Given the description of an element on the screen output the (x, y) to click on. 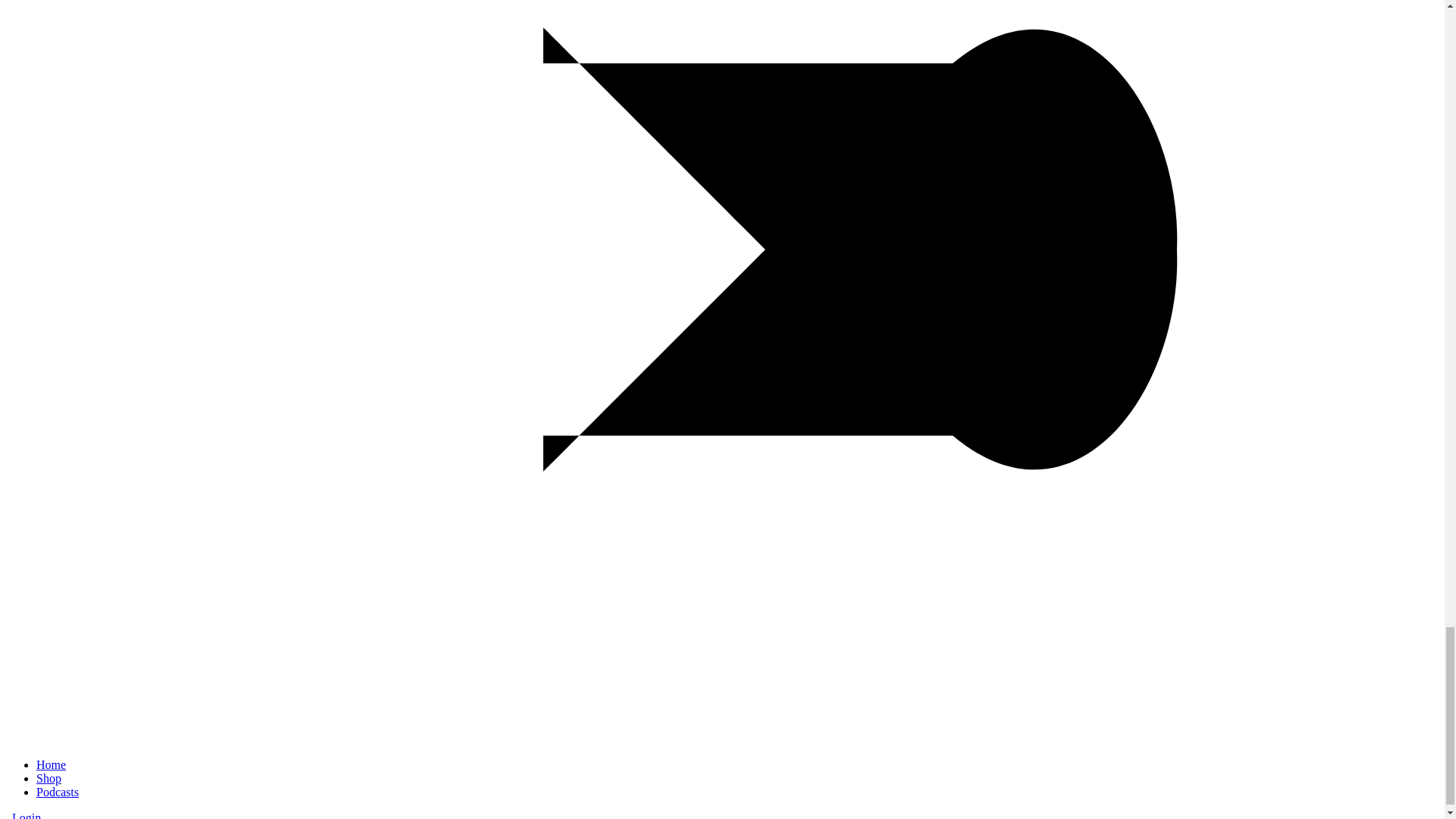
Home (50, 764)
Podcasts (57, 791)
Shop (48, 778)
